Given the description of an element on the screen output the (x, y) to click on. 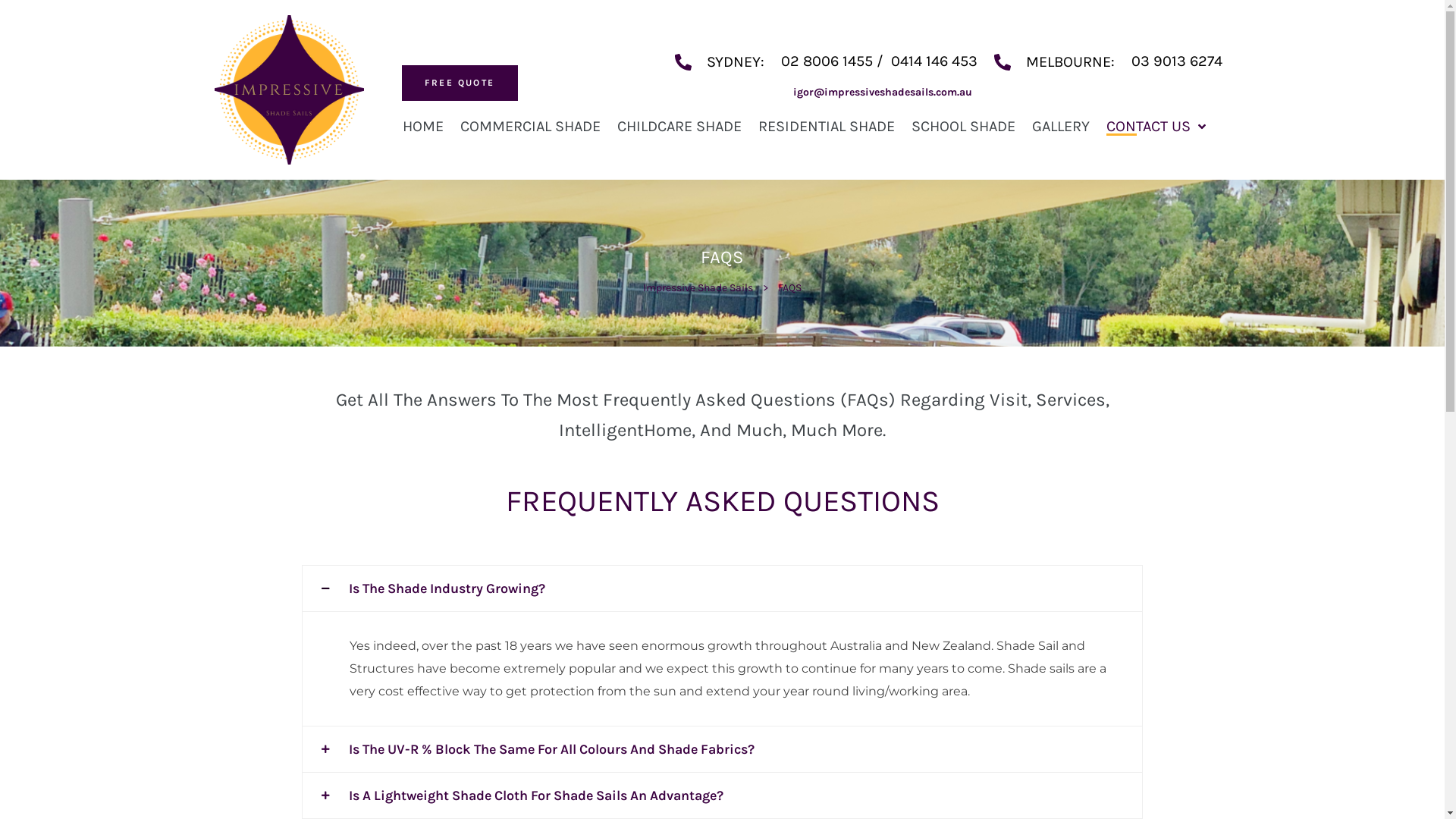
GALLERY Element type: text (1060, 125)
RESIDENTIAL SHADE Element type: text (826, 125)
03 9013 6274 Element type: text (1176, 60)
FREE QUOTE Element type: text (459, 82)
CHILDCARE SHADE Element type: text (679, 125)
Impressive Shade Sails Element type: text (697, 287)
SCHOOL SHADE Element type: text (963, 125)
SYDNEY: Element type: text (719, 60)
MELBOURNE: Element type: text (1054, 60)
COMMERCIAL SHADE Element type: text (530, 125)
HOME Element type: text (422, 125)
02 8006 1455 /   Element type: text (836, 60)
igor@impressiveshadesails.com.au Element type: text (882, 92)
0414 146 453 Element type: text (934, 60)
CONTACT US Element type: text (1155, 125)
